Given the description of an element on the screen output the (x, y) to click on. 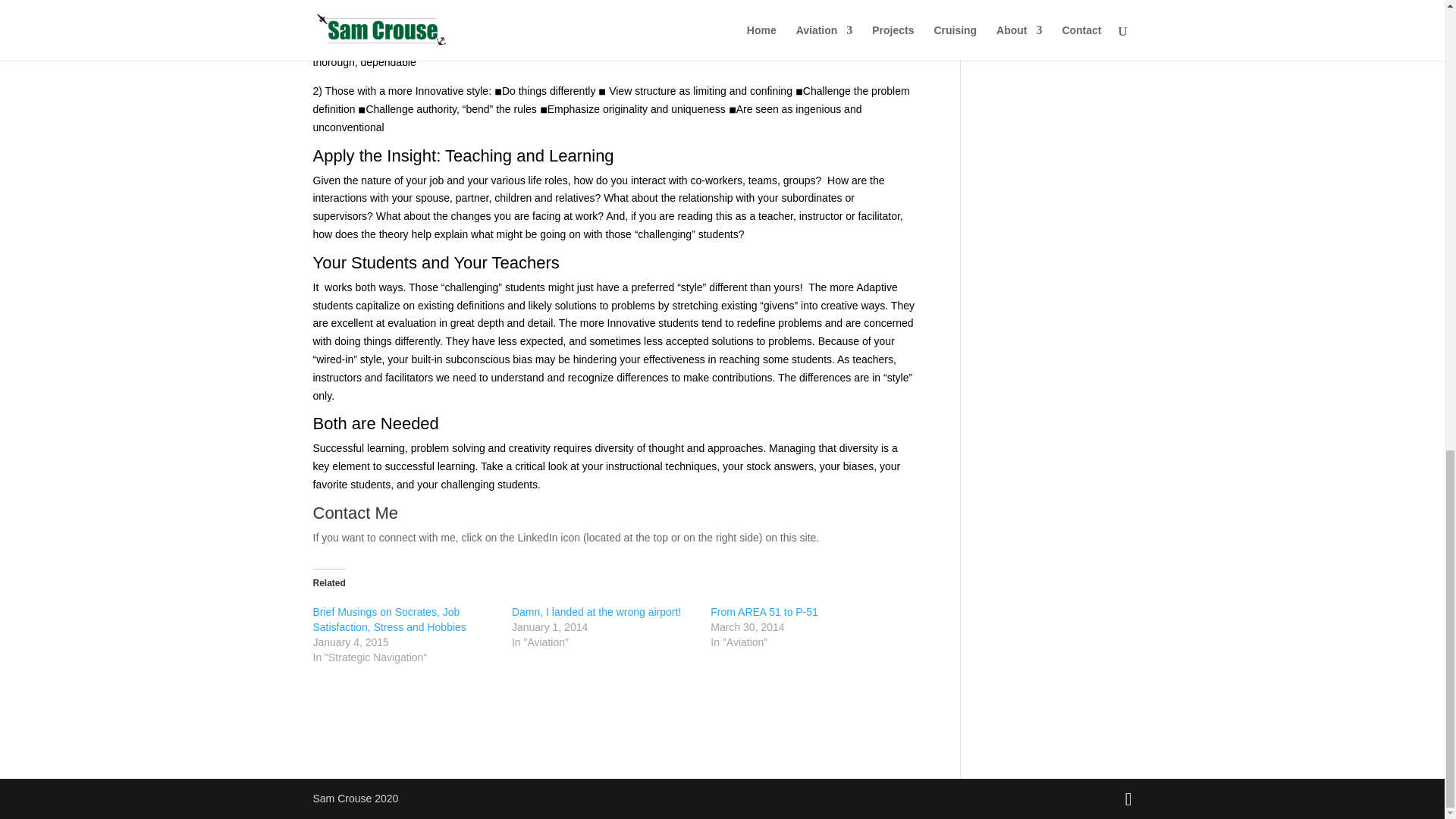
From AREA 51 to P-51 (764, 612)
Damn, I landed at the wrong airport! (596, 612)
From AREA 51 to P-51 (764, 612)
Damn, I landed at the wrong airport! (596, 612)
